Given the description of an element on the screen output the (x, y) to click on. 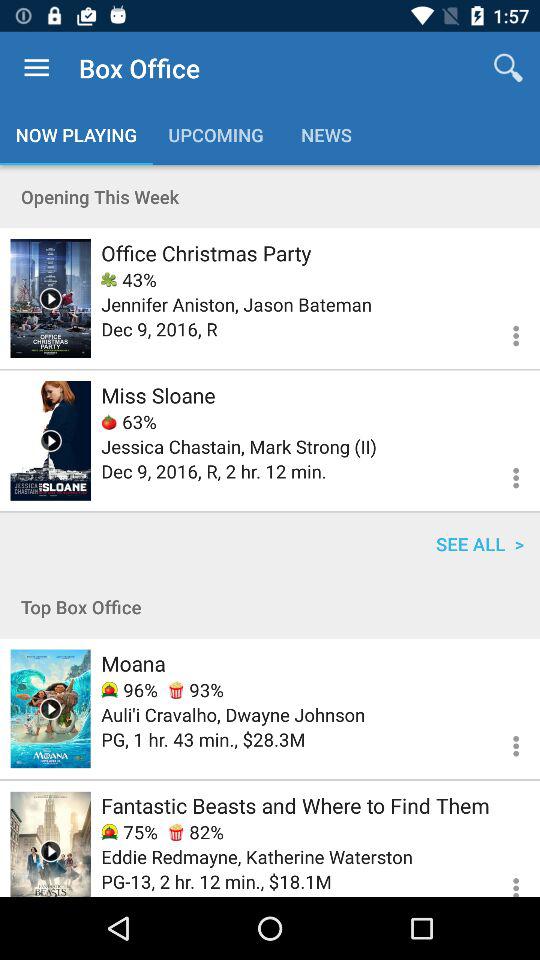
check out moana movie (50, 708)
